Given the description of an element on the screen output the (x, y) to click on. 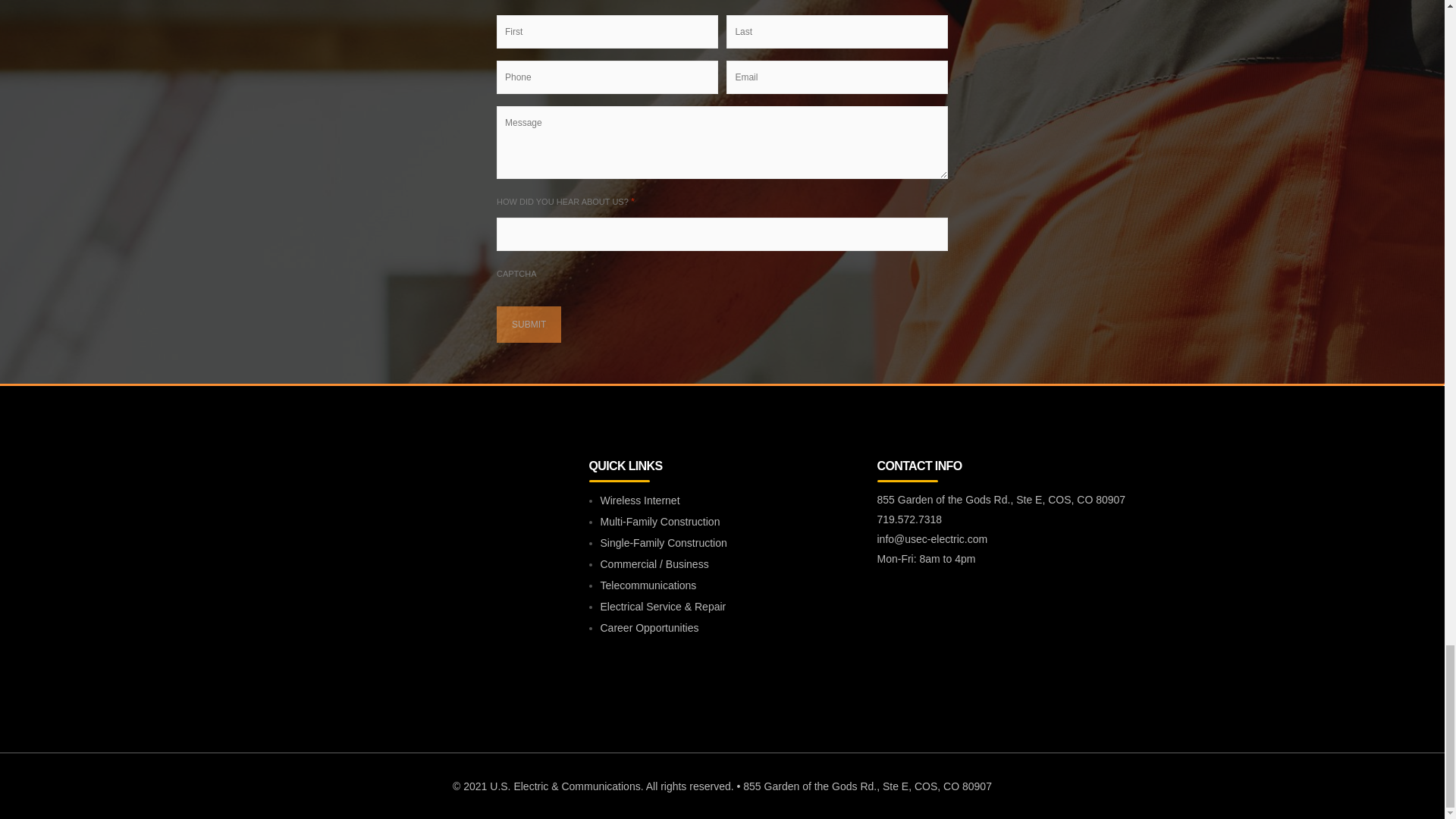
Submit (528, 324)
